Given the description of an element on the screen output the (x, y) to click on. 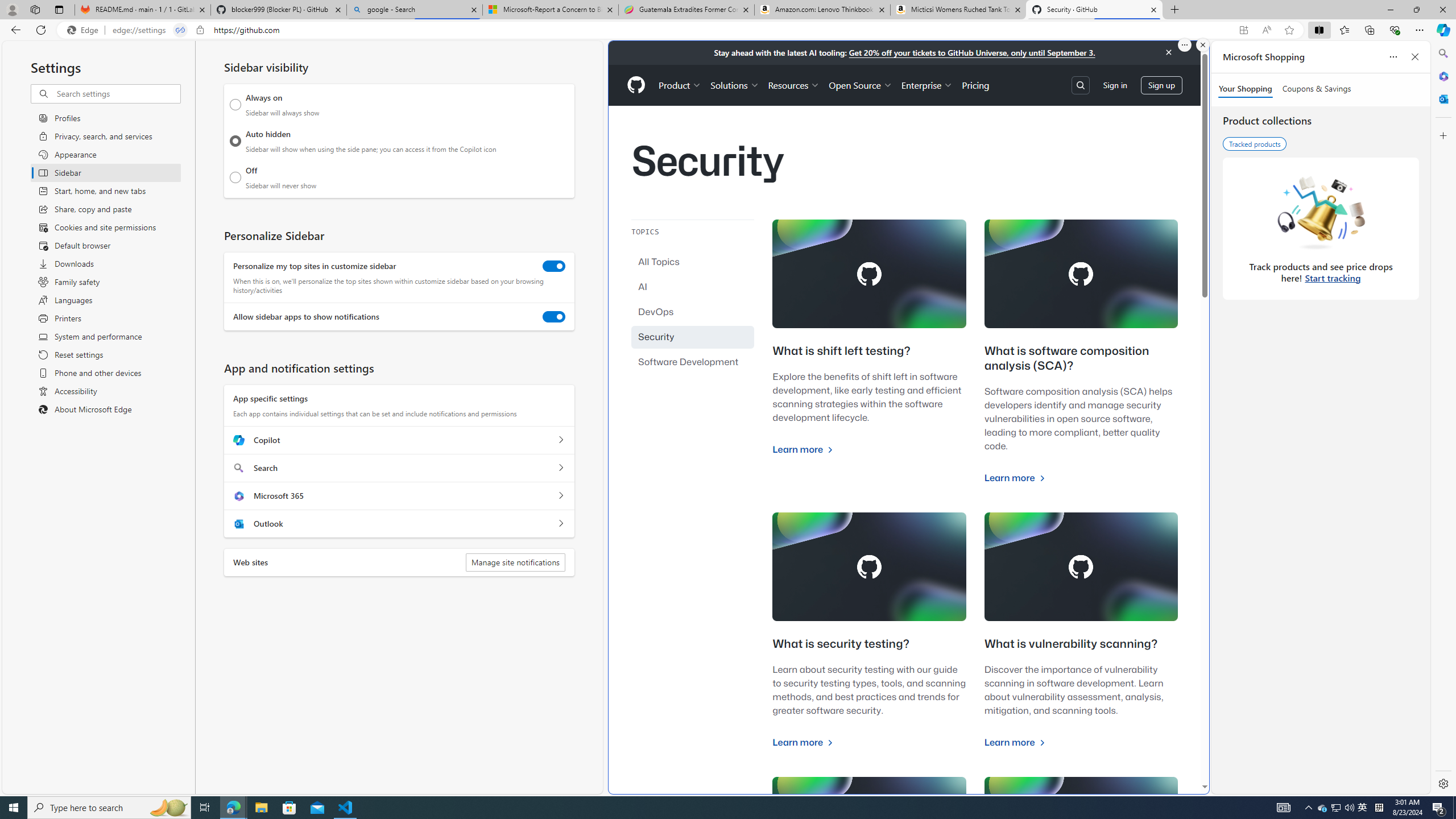
Security (692, 336)
Tabs in split screen (180, 29)
Search settings (117, 93)
Solutions (735, 84)
Open Source (860, 84)
DevOps (692, 311)
Security (692, 336)
Copilot (560, 439)
Software Development (692, 361)
